Given the description of an element on the screen output the (x, y) to click on. 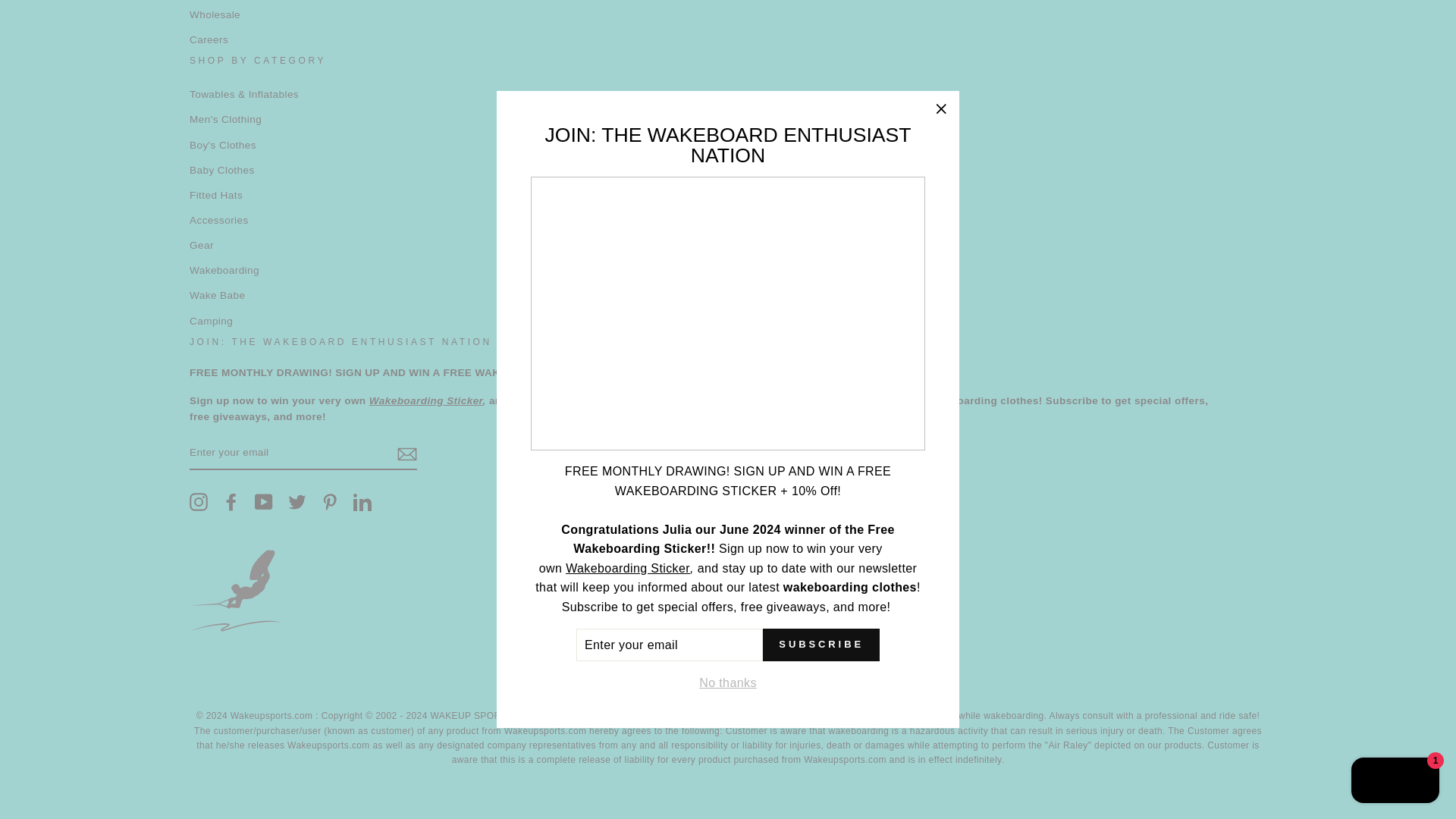
PayPal (823, 683)
Amazon (514, 683)
American Express (554, 683)
Diners Club (631, 683)
Google Pay (746, 683)
Meta Pay (708, 683)
Discover (670, 683)
Mastercard (785, 683)
Apple Pay (592, 683)
